Given the description of an element on the screen output the (x, y) to click on. 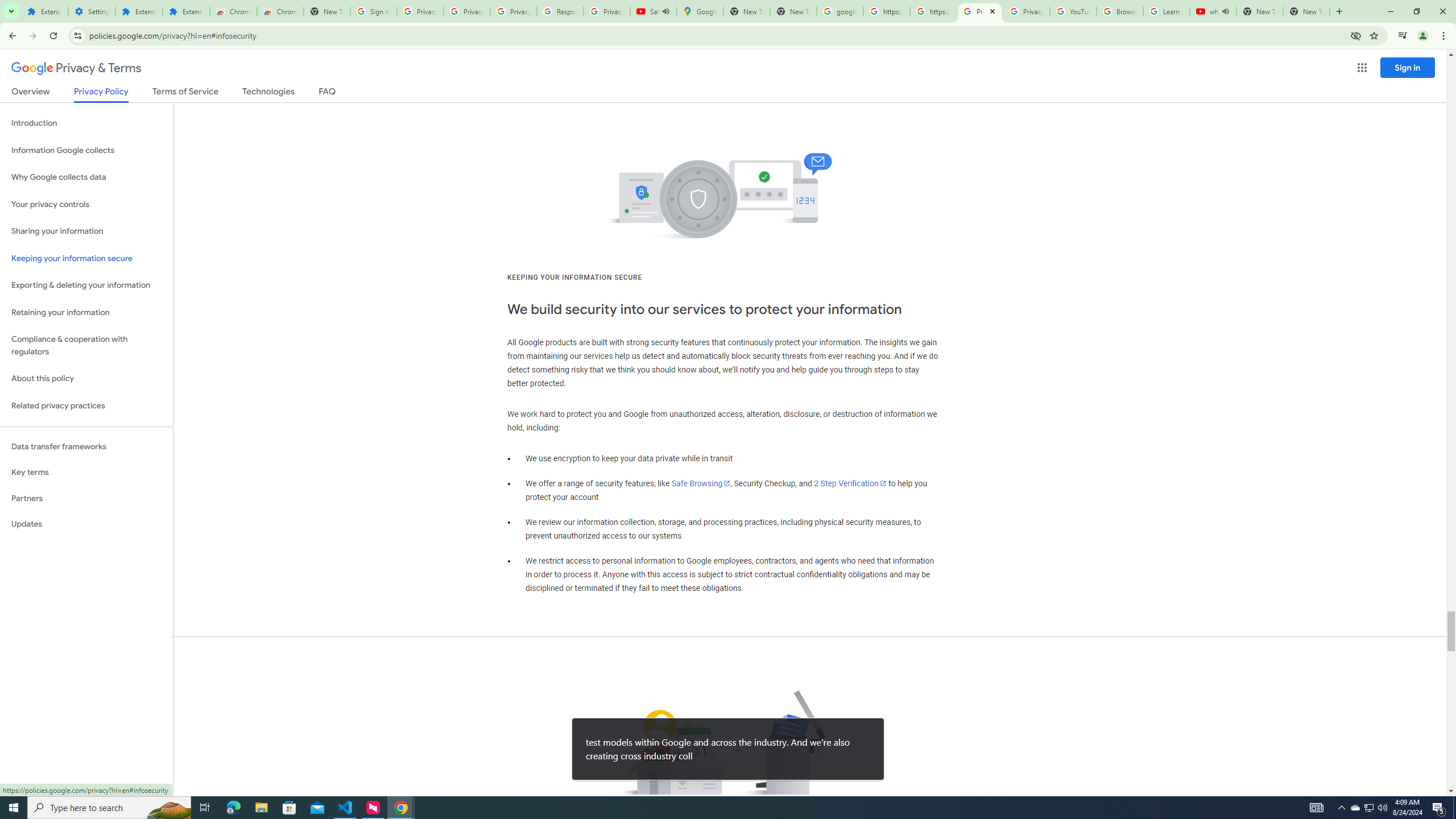
Sign in - Google Accounts (373, 11)
Mute tab (1225, 10)
Retaining your information (86, 312)
Chrome Web Store - Themes (279, 11)
YouTube (1073, 11)
Minimize (1390, 11)
Your privacy controls (86, 204)
Google Maps (699, 11)
Settings (91, 11)
Extensions (186, 11)
Browse Chrome as a guest - Computer - Google Chrome Help (1120, 11)
Address and search bar (715, 35)
Data transfer frameworks (86, 446)
